Given the description of an element on the screen output the (x, y) to click on. 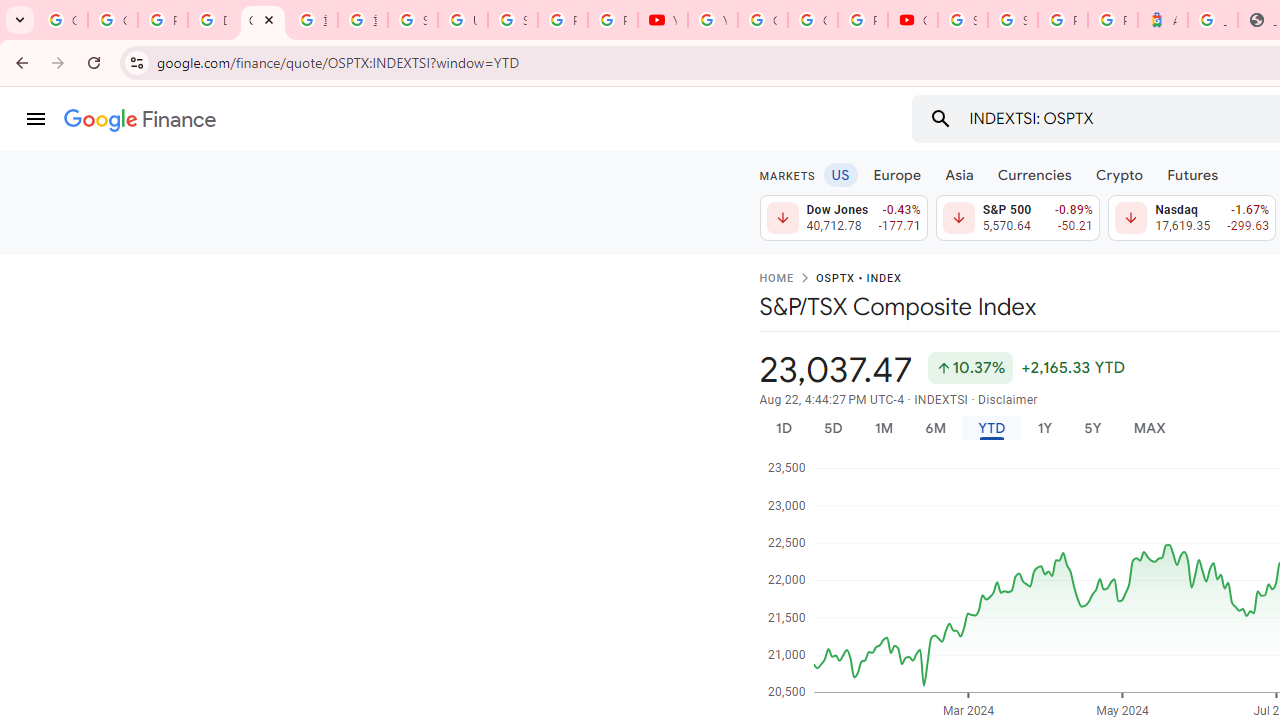
Disclaimer (1007, 399)
Asia (958, 174)
Privacy Checkup (612, 20)
5D (832, 427)
Currencies (1034, 174)
Dow Jones 40,712.78 Down by 0.43% -177.71 (843, 218)
Europe (897, 174)
